Given the description of an element on the screen output the (x, y) to click on. 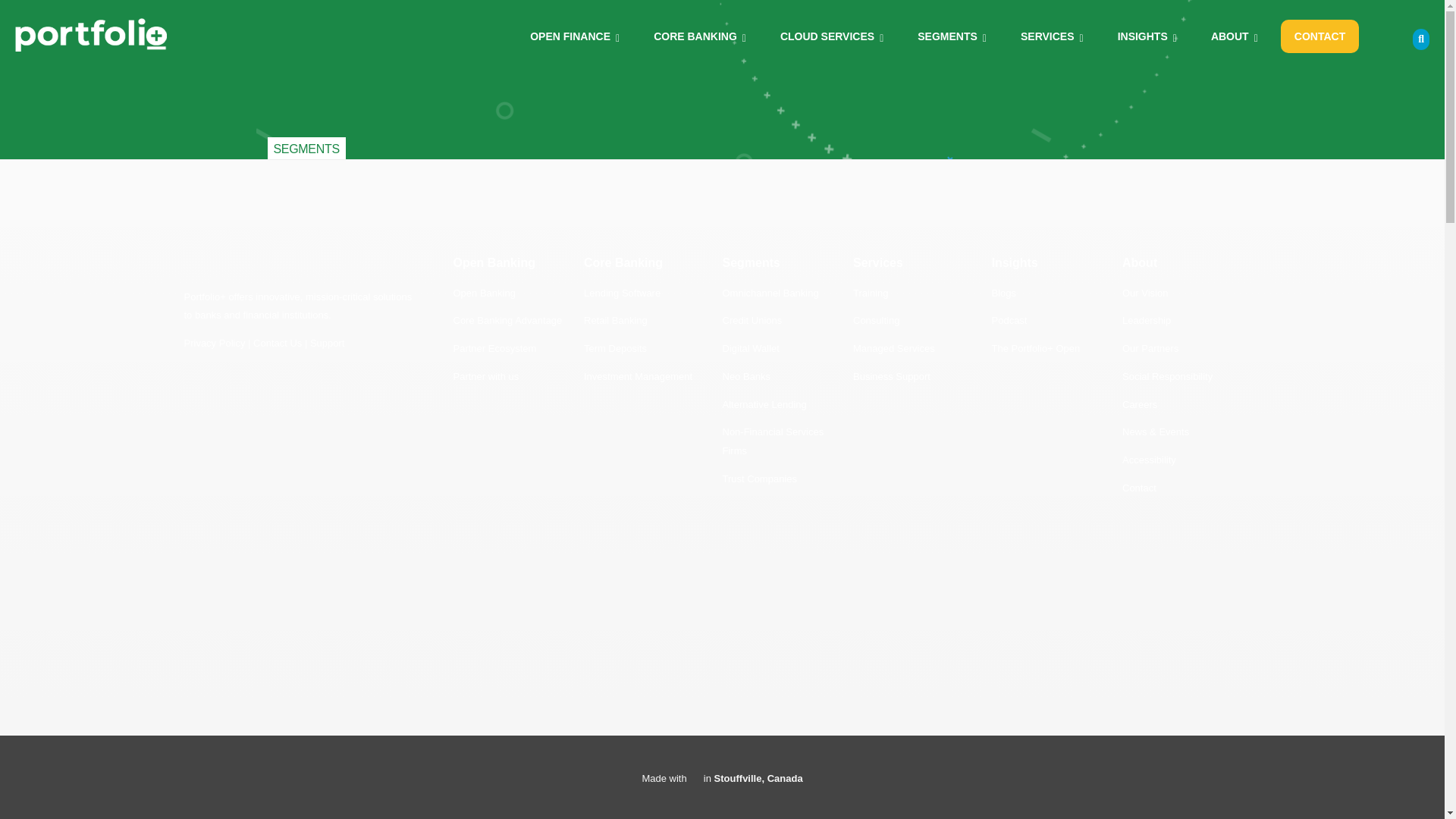
SERVICES (1051, 34)
SEGMENTS (951, 34)
Form 0 (314, 527)
ABOUT (1234, 34)
CLOUD SERVICES (831, 34)
INSIGHTS (1147, 34)
CORE BANKING (699, 34)
OPEN FINANCE (574, 34)
